Given the description of an element on the screen output the (x, y) to click on. 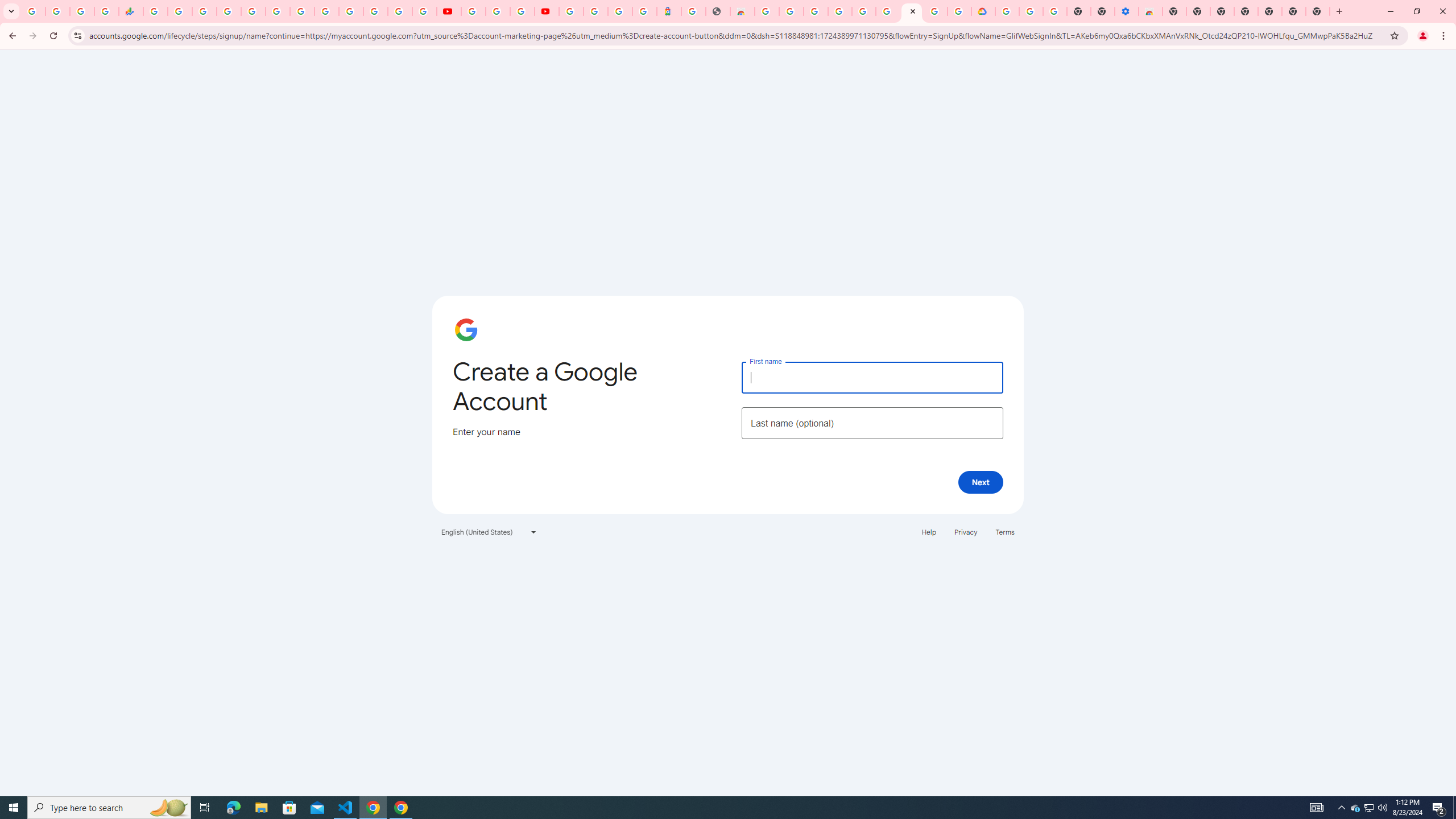
Google Account Help (1030, 11)
First name (871, 376)
New Tab (1317, 11)
Atour Hotel - Google hotels (668, 11)
